Given the description of an element on the screen output the (x, y) to click on. 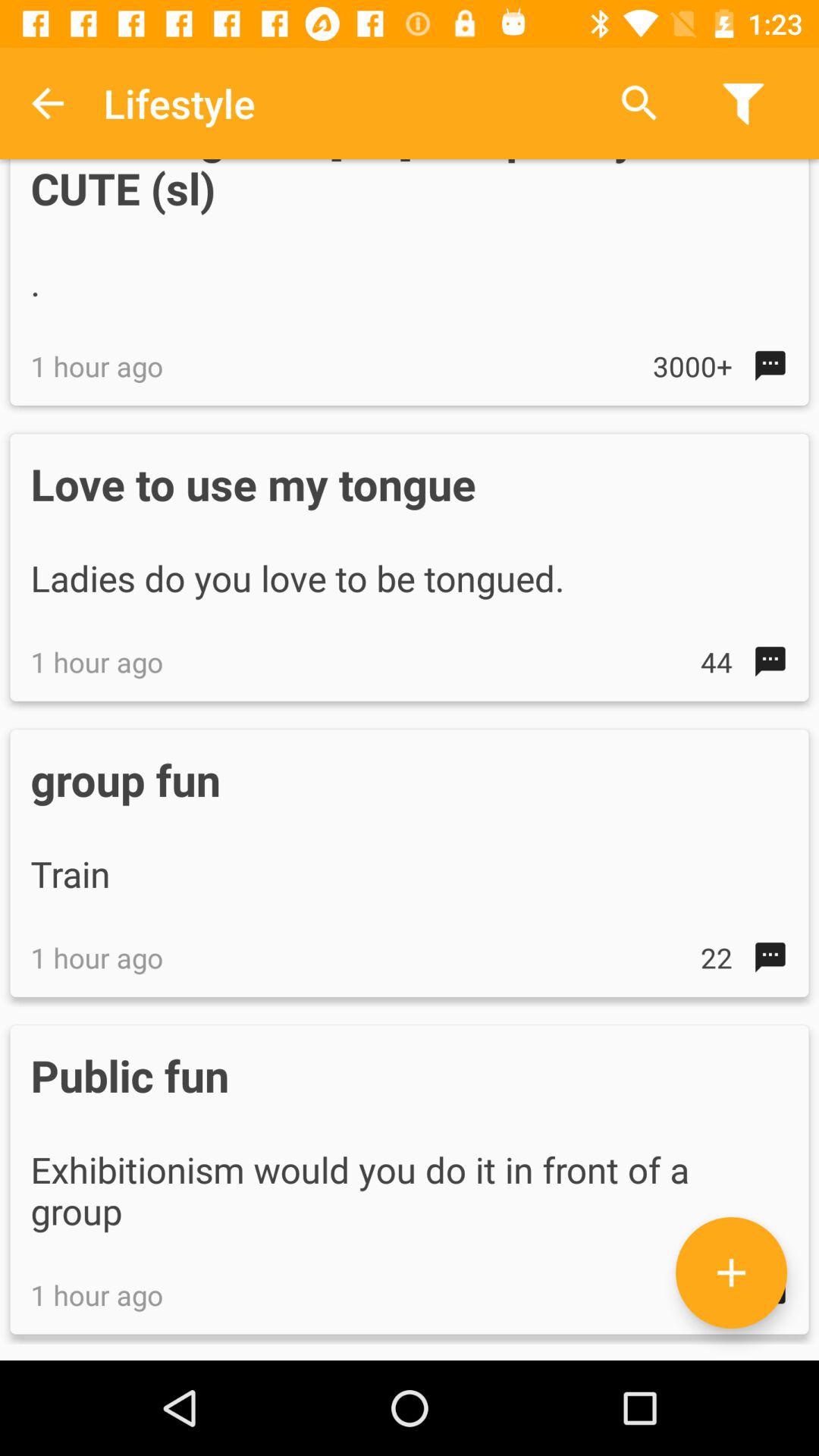
tap icon next to lifestyle (639, 103)
